Given the description of an element on the screen output the (x, y) to click on. 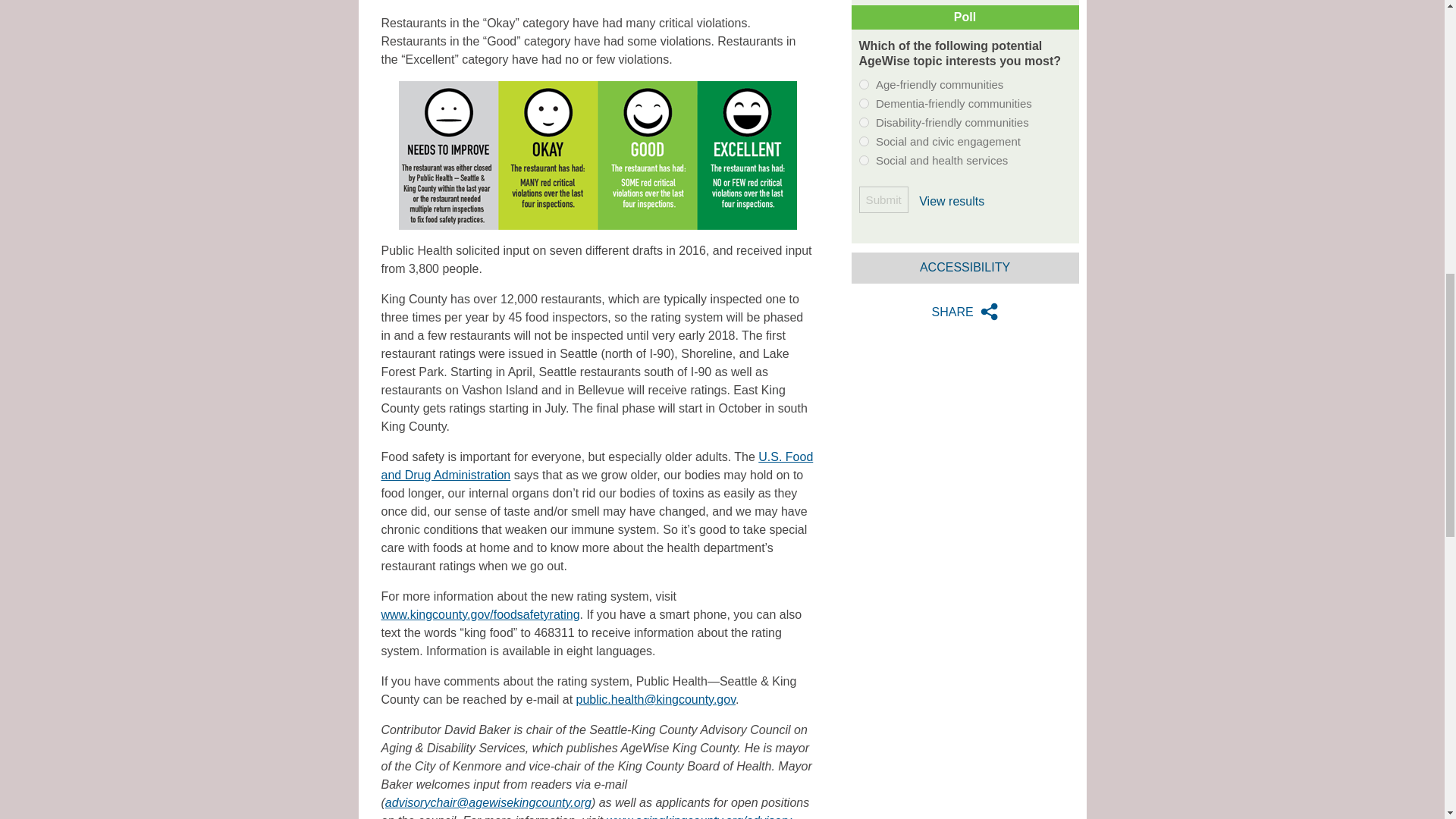
Dementia-friendly communities (863, 103)
Submit (883, 199)
Age-friendly communities (863, 84)
Social and health services (863, 160)
U.S. Food and Drug Administration (596, 465)
Disability-friendly communities (863, 122)
Social and civic engagement (863, 141)
